Given the description of an element on the screen output the (x, y) to click on. 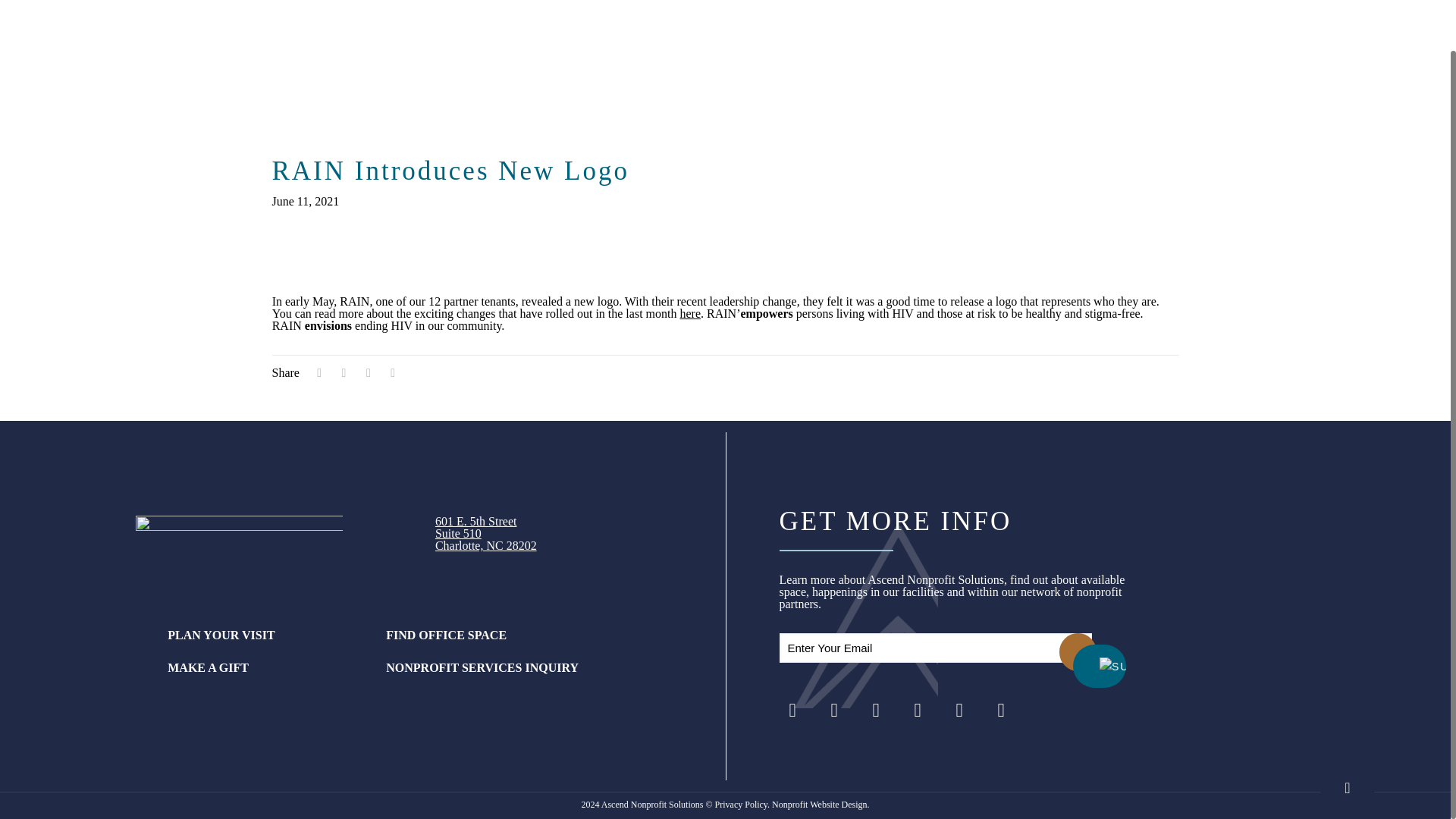
Facebook (792, 710)
Newsletter (1000, 710)
Instagram (959, 710)
Twitter (834, 710)
Instagram (486, 533)
LinkedIn (917, 710)
PLAN YOUR VISIT (876, 710)
here (264, 635)
